Given the description of an element on the screen output the (x, y) to click on. 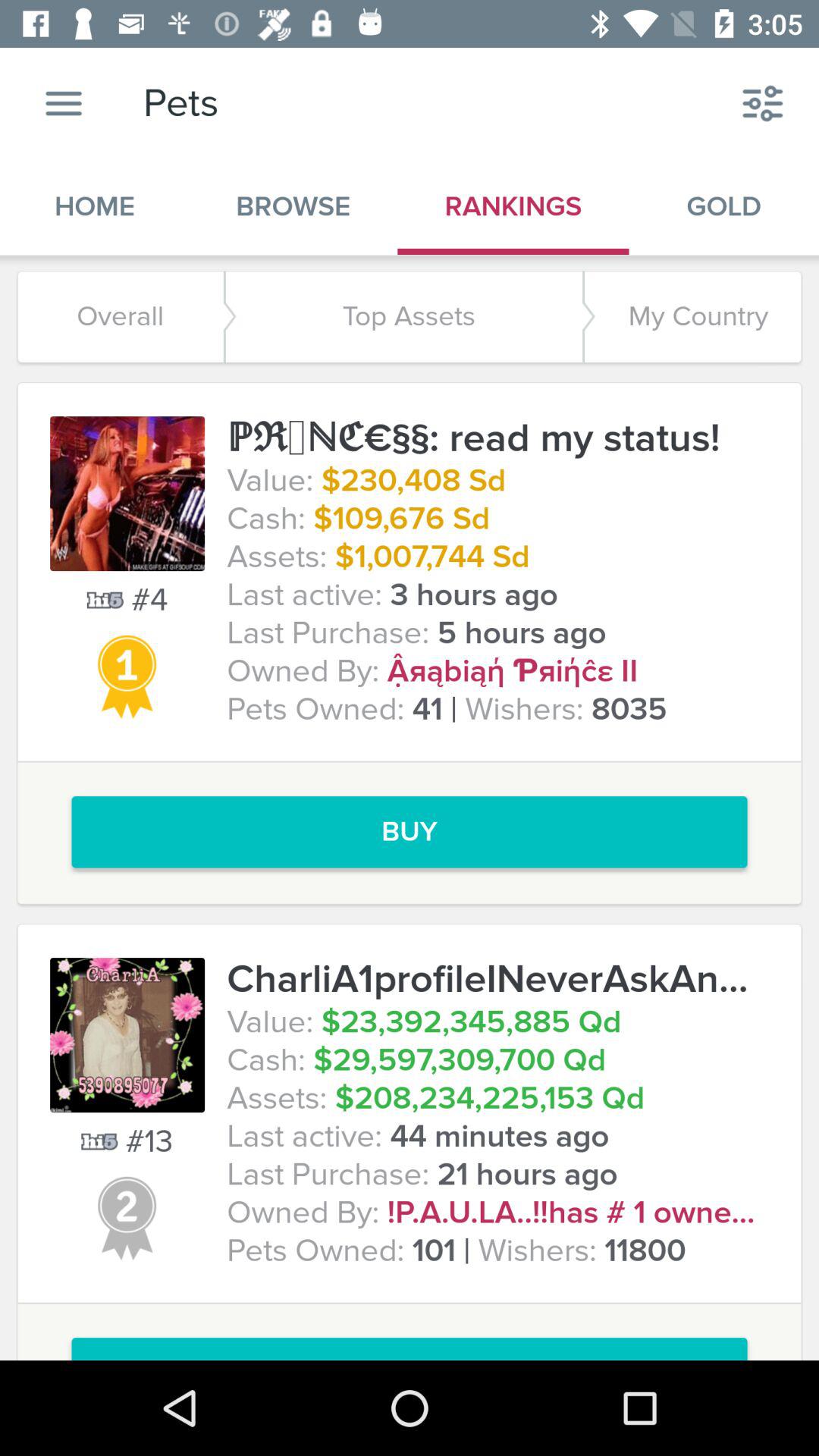
turn off the icon above the gold item (762, 103)
